Given the description of an element on the screen output the (x, y) to click on. 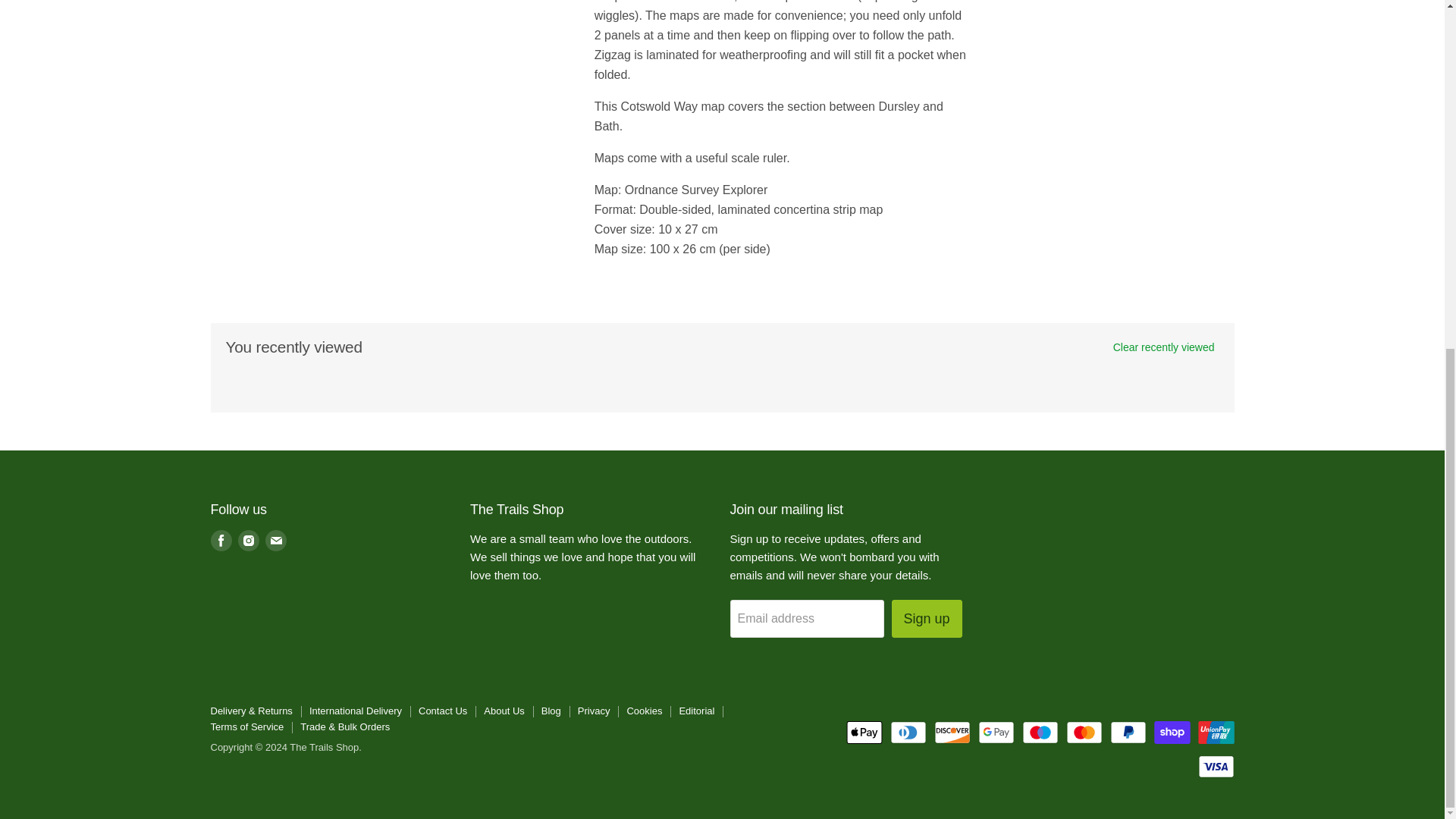
Facebook (221, 540)
E-mail (275, 540)
Instagram (248, 540)
